Given the description of an element on the screen output the (x, y) to click on. 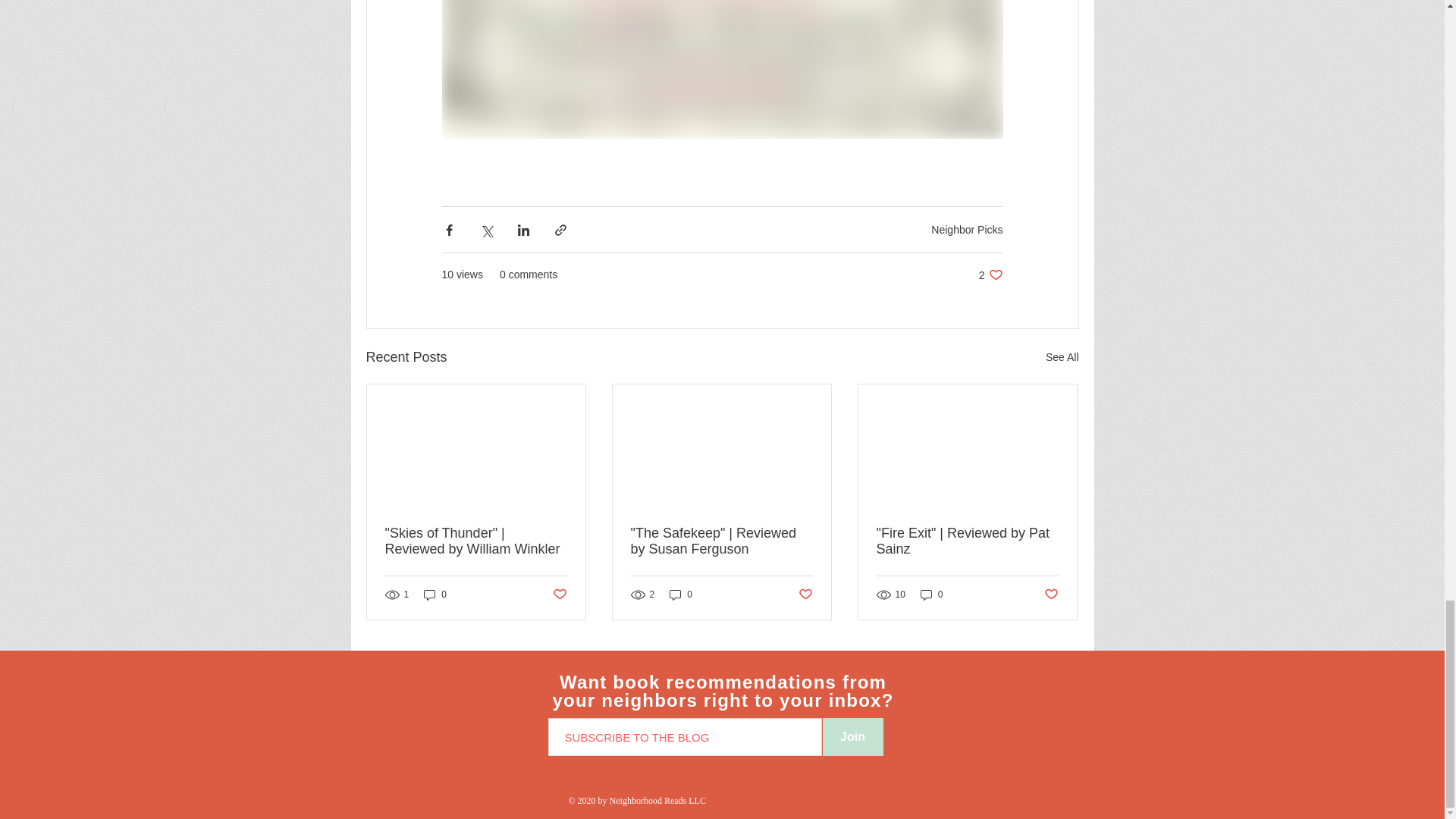
Post not marked as liked (990, 274)
0 (1050, 594)
Post not marked as liked (681, 594)
Neighbor Picks (804, 594)
Post not marked as liked (967, 229)
Join (558, 594)
0 (852, 736)
See All (435, 594)
0 (1061, 357)
